Given the description of an element on the screen output the (x, y) to click on. 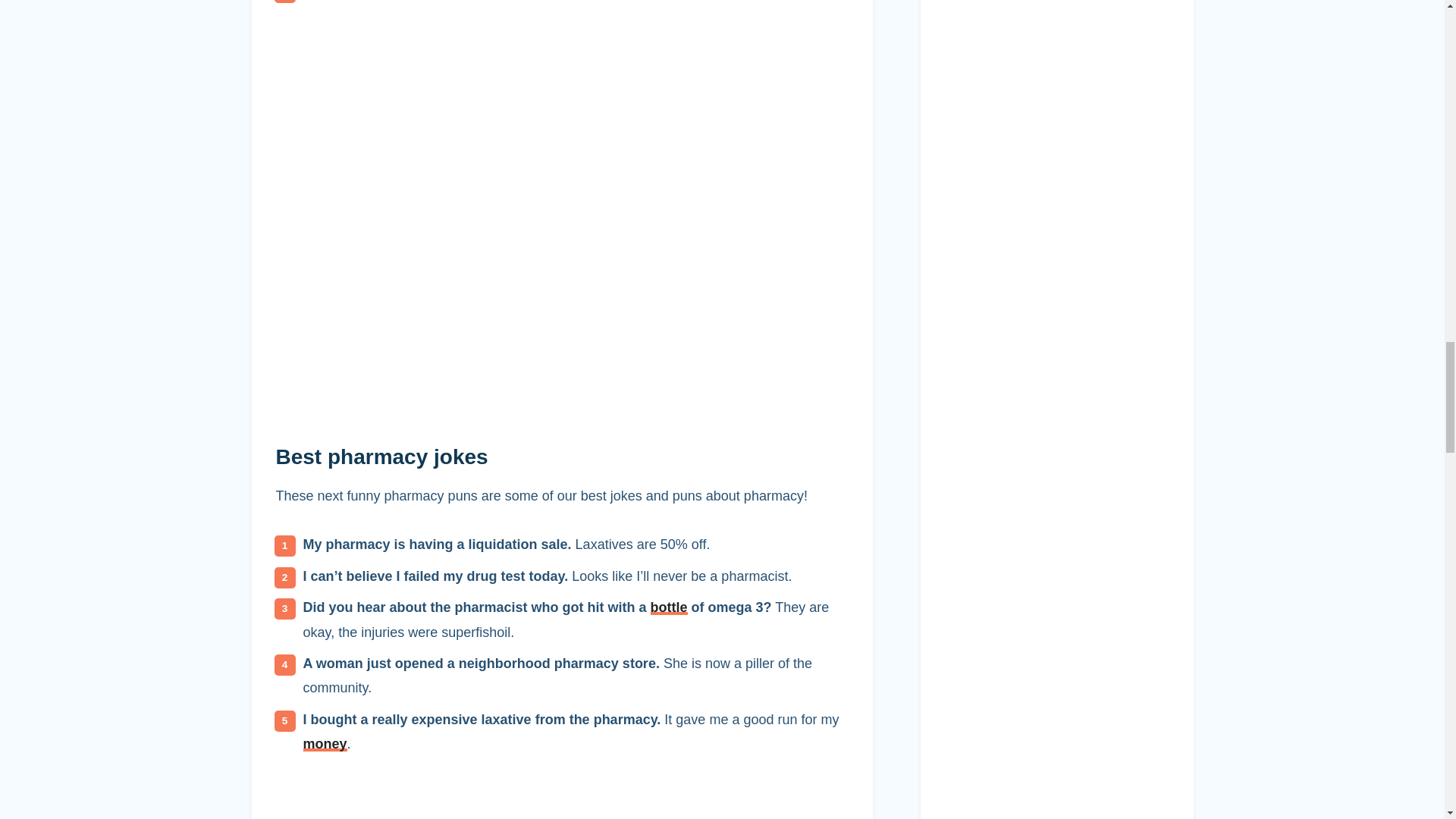
money (324, 743)
bottle (668, 607)
bottle (668, 607)
money (324, 743)
